Given the description of an element on the screen output the (x, y) to click on. 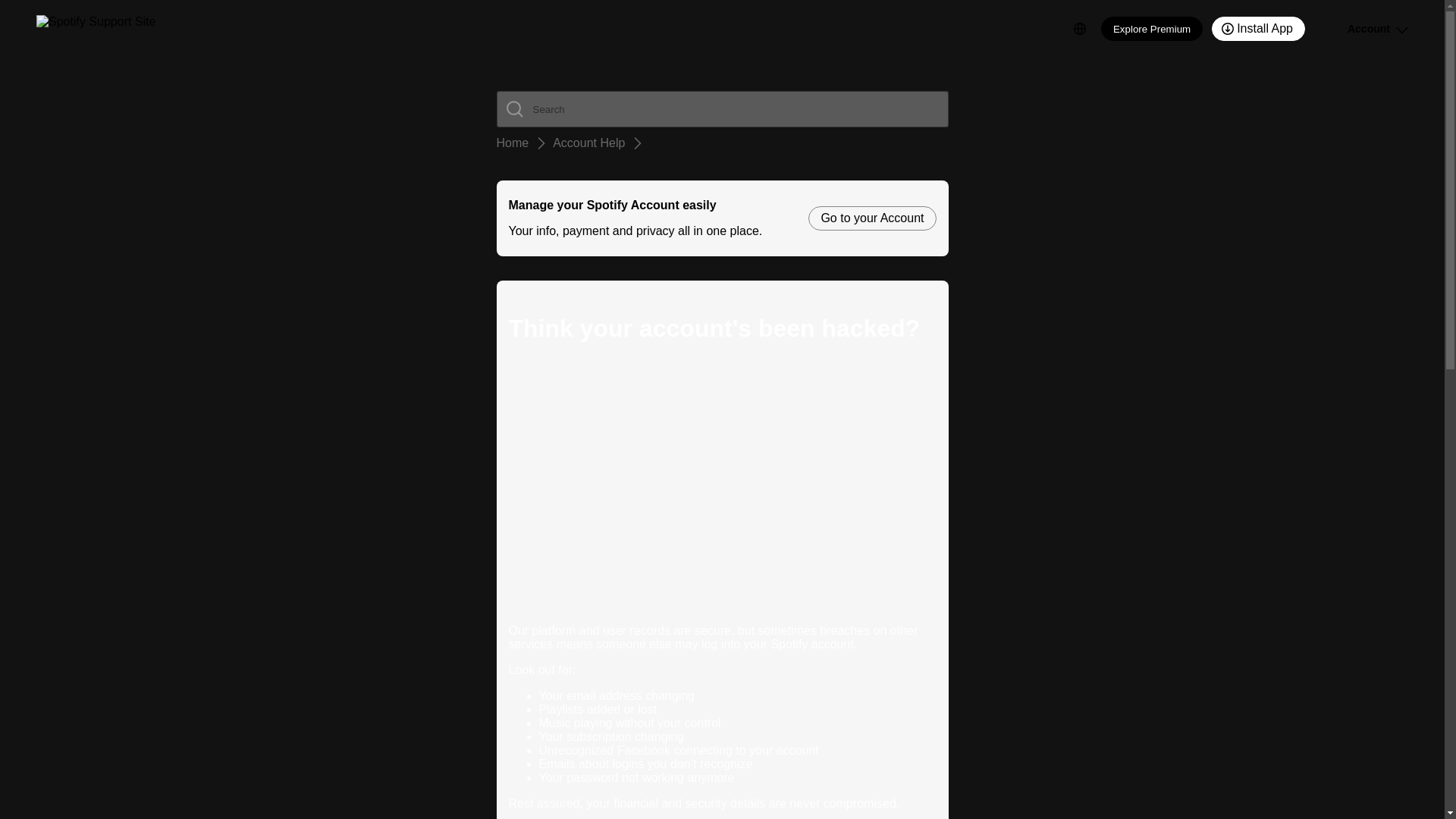
Install App (1257, 28)
Home (512, 142)
Spotify Support Site (95, 28)
Account (1360, 28)
Account Help (588, 142)
Explore Premium (1151, 28)
Go to your Account (872, 218)
